Given the description of an element on the screen output the (x, y) to click on. 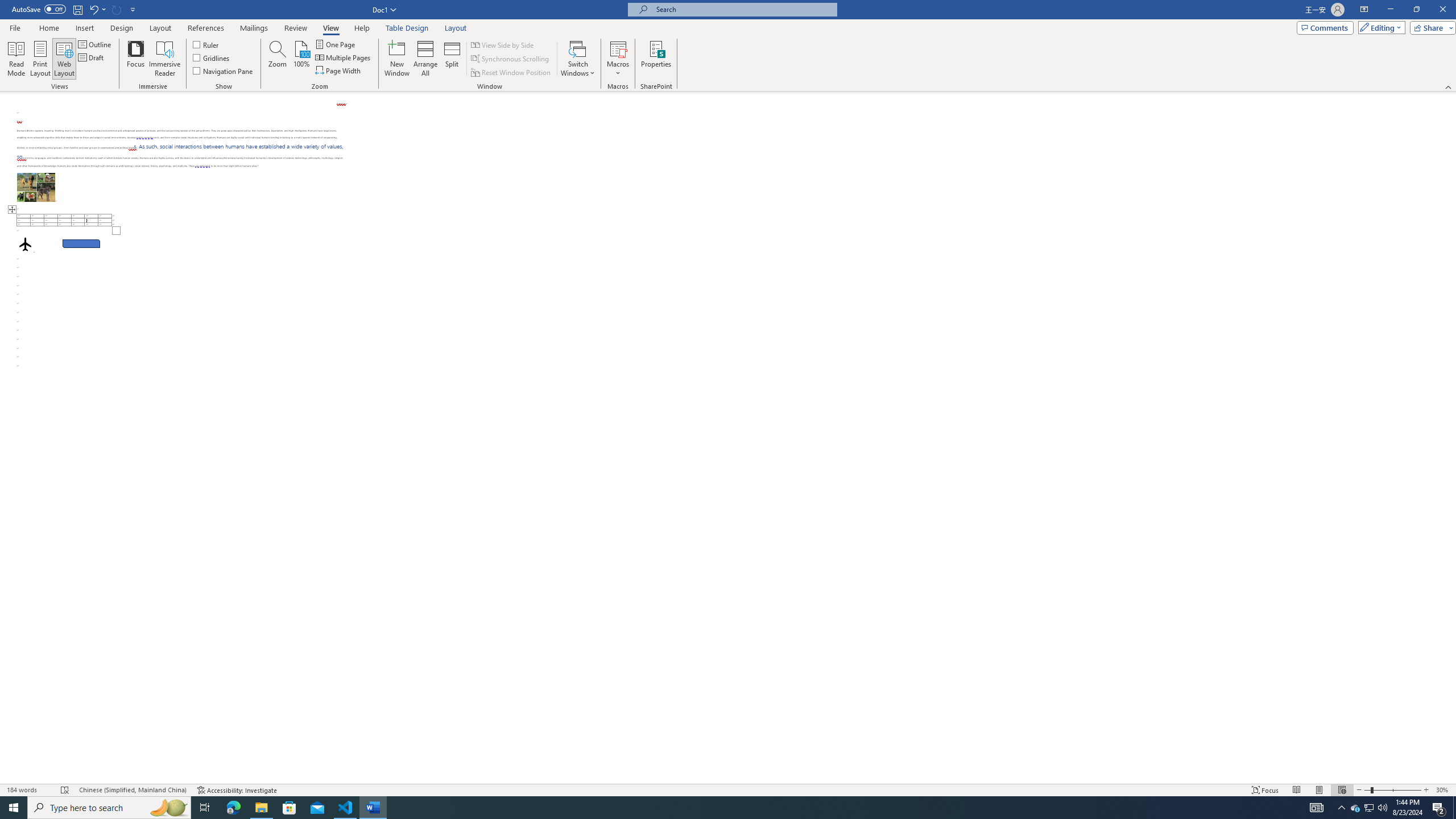
Read Mode (16, 58)
Switch Windows (577, 58)
Page Width (338, 69)
Macros (617, 58)
Gridlines (211, 56)
Properties (655, 58)
View Side by Side (502, 44)
Immersive Reader (165, 58)
Customize Quick Access Toolbar (133, 9)
Multiple Pages (343, 56)
Word Count 184 words (28, 790)
Zoom (1392, 790)
Accessibility Checker Accessibility: Investigate (237, 790)
